Given the description of an element on the screen output the (x, y) to click on. 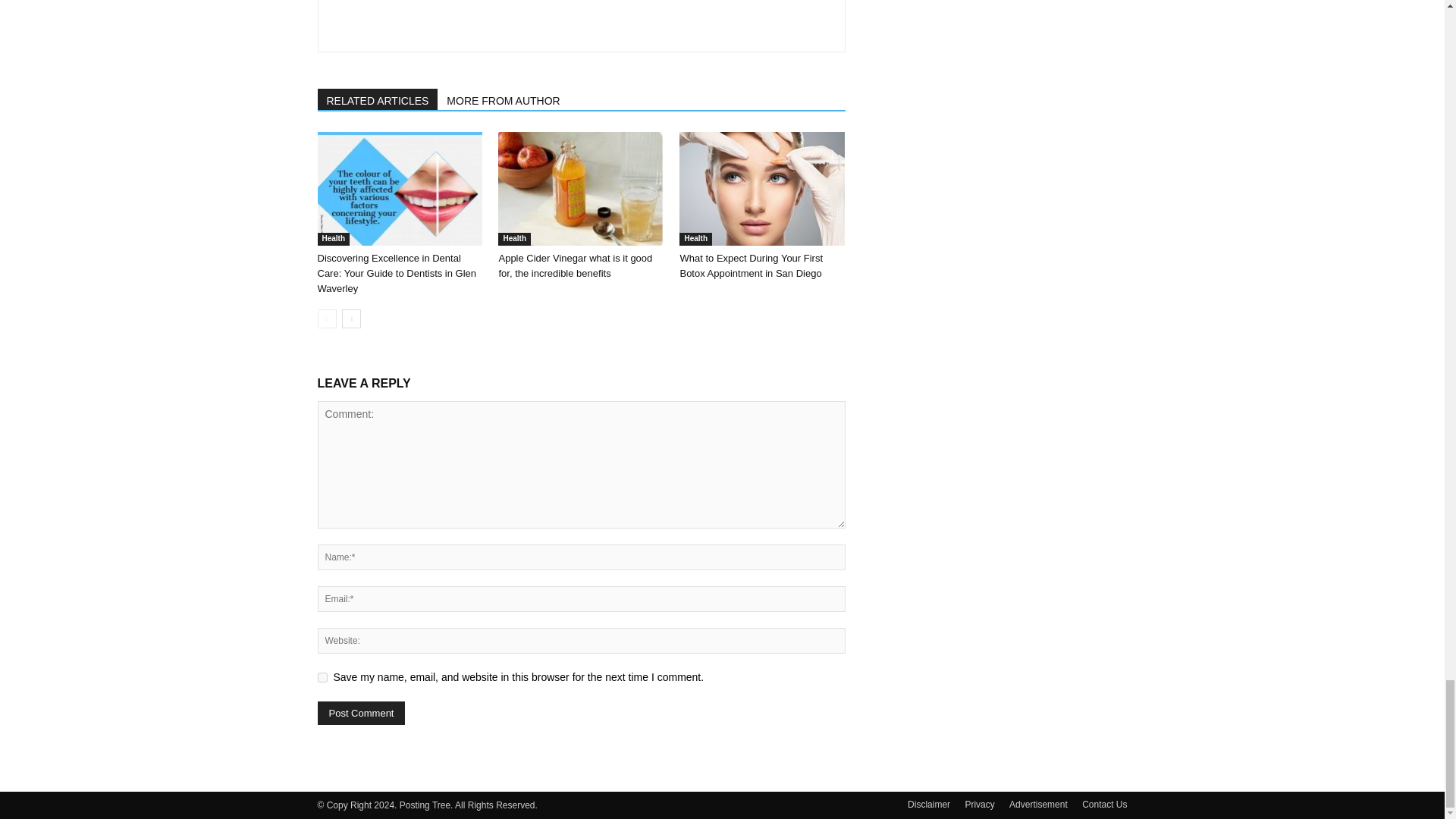
yes (321, 677)
Post Comment (360, 712)
